Given the description of an element on the screen output the (x, y) to click on. 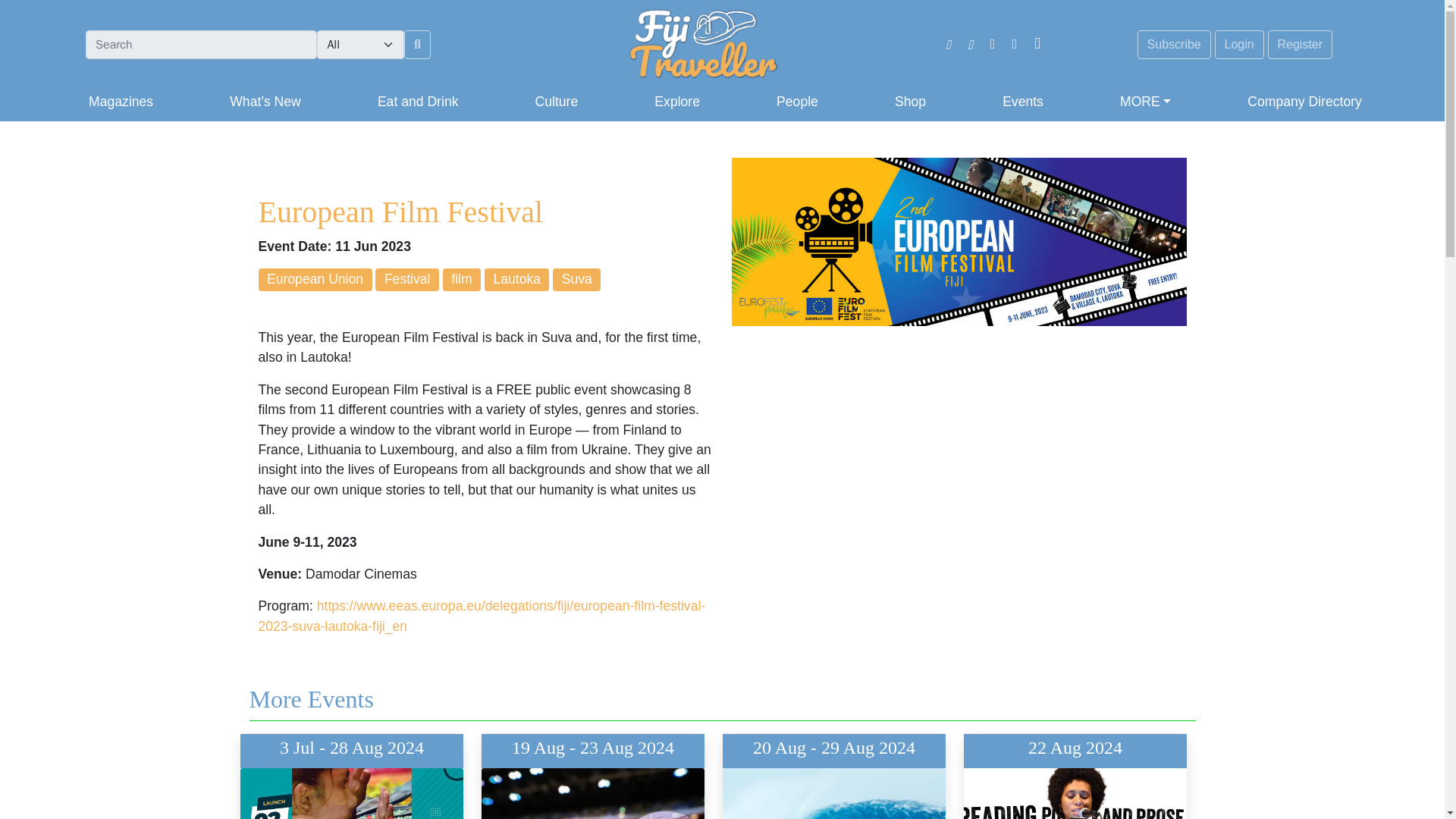
Company Directory (1301, 101)
Subscribe (1174, 43)
Eat and Drink (417, 101)
Login (1238, 44)
Events (1022, 101)
Login (1238, 43)
Register (1300, 44)
Culture (557, 101)
Subscribe (1174, 44)
MORE (1144, 101)
